Given the description of an element on the screen output the (x, y) to click on. 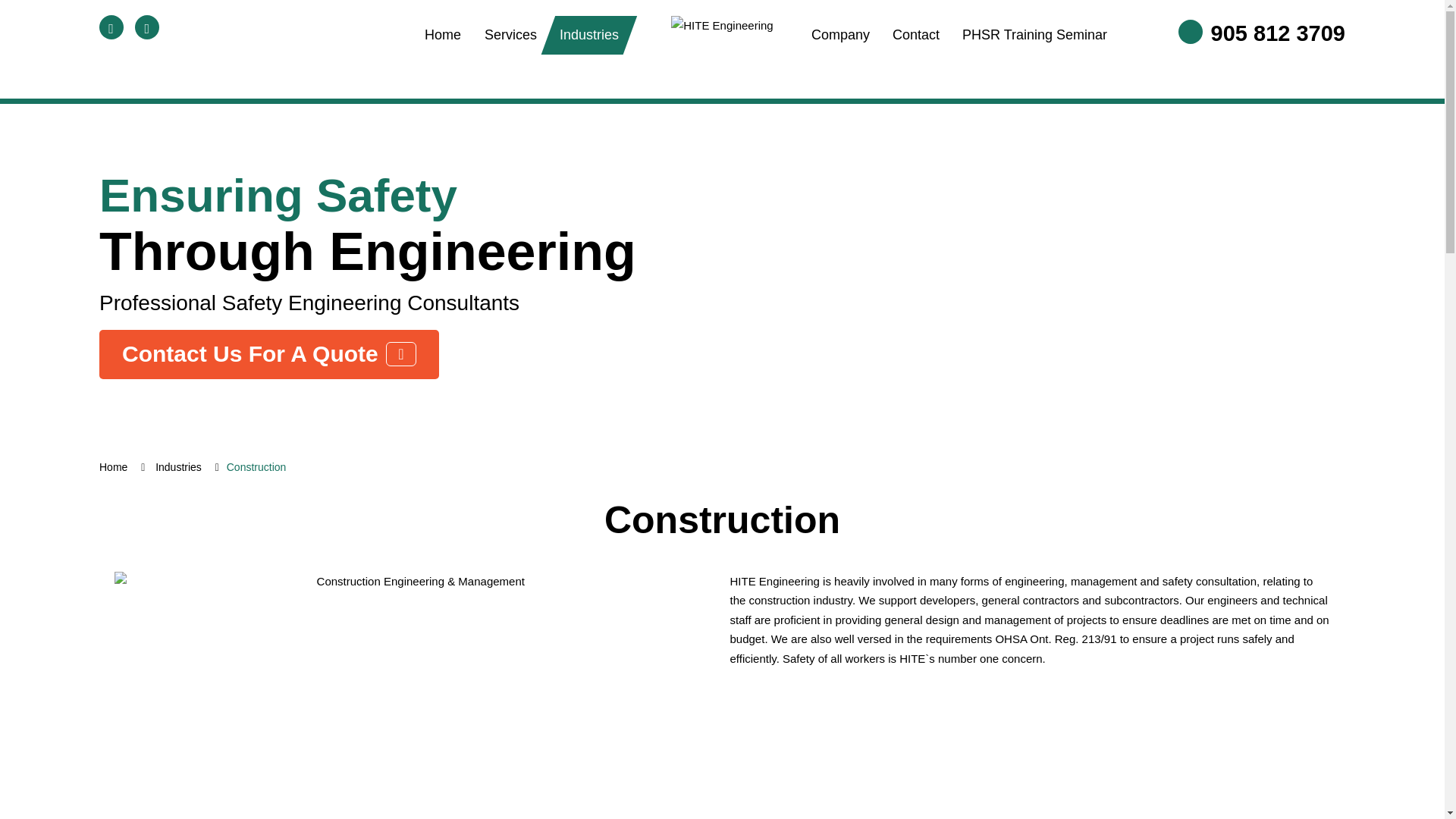
Industries (180, 467)
Services (510, 34)
Home (116, 467)
Industries (589, 34)
Home (442, 34)
HITE Engineering (722, 25)
